Given the description of an element on the screen output the (x, y) to click on. 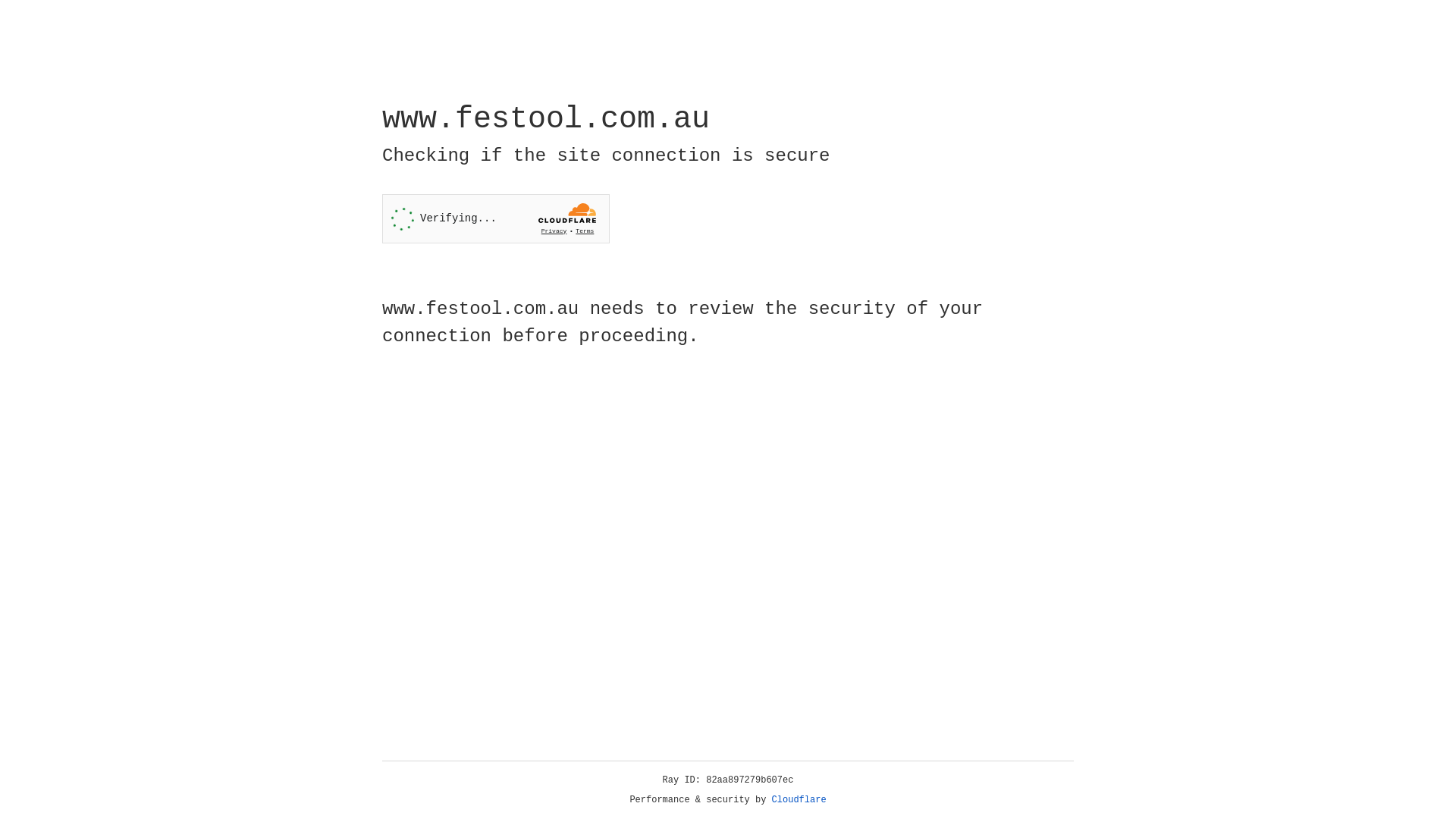
Cloudflare Element type: text (798, 799)
Widget containing a Cloudflare security challenge Element type: hover (495, 218)
